Given the description of an element on the screen output the (x, y) to click on. 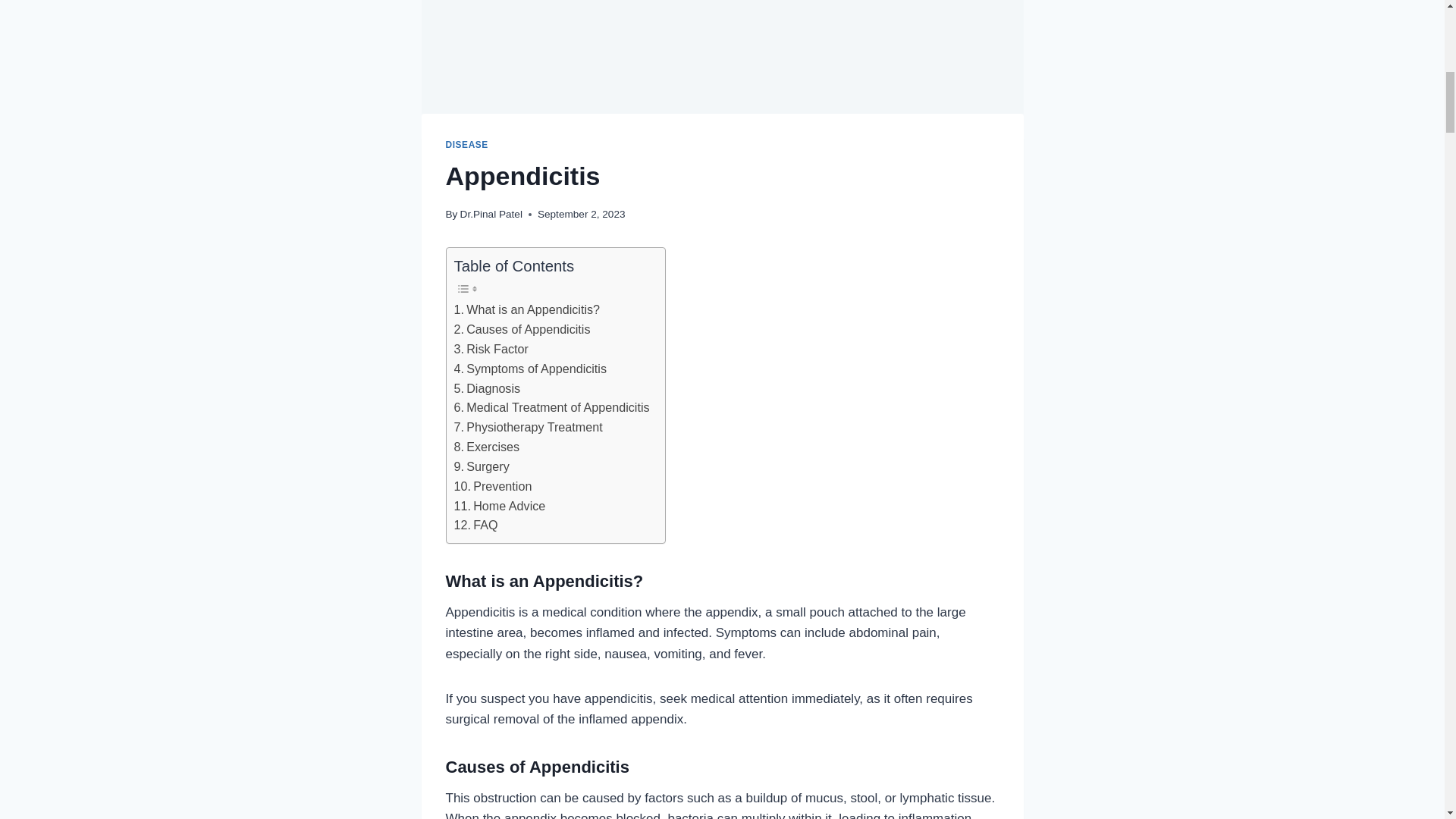
What is an Appendicitis? (525, 310)
FAQ (474, 525)
DISEASE (466, 144)
Diagnosis (485, 388)
Causes of Appendicitis (520, 329)
Surgery (480, 466)
Dr.Pinal Patel (491, 214)
Exercises (485, 447)
Risk Factor (489, 349)
Causes of Appendicitis (520, 329)
